Given the description of an element on the screen output the (x, y) to click on. 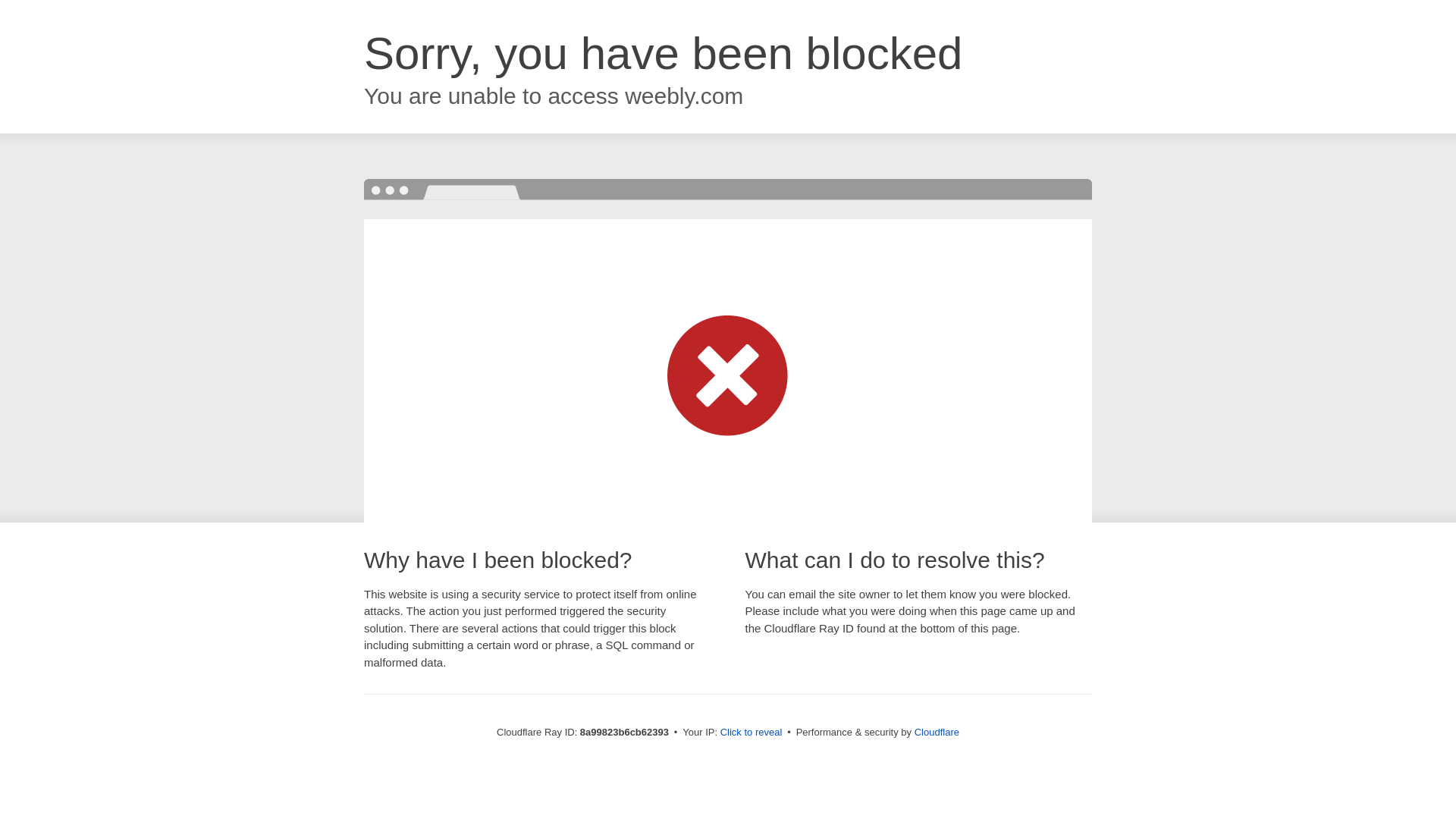
Cloudflare (936, 731)
Click to reveal (751, 732)
